Given the description of an element on the screen output the (x, y) to click on. 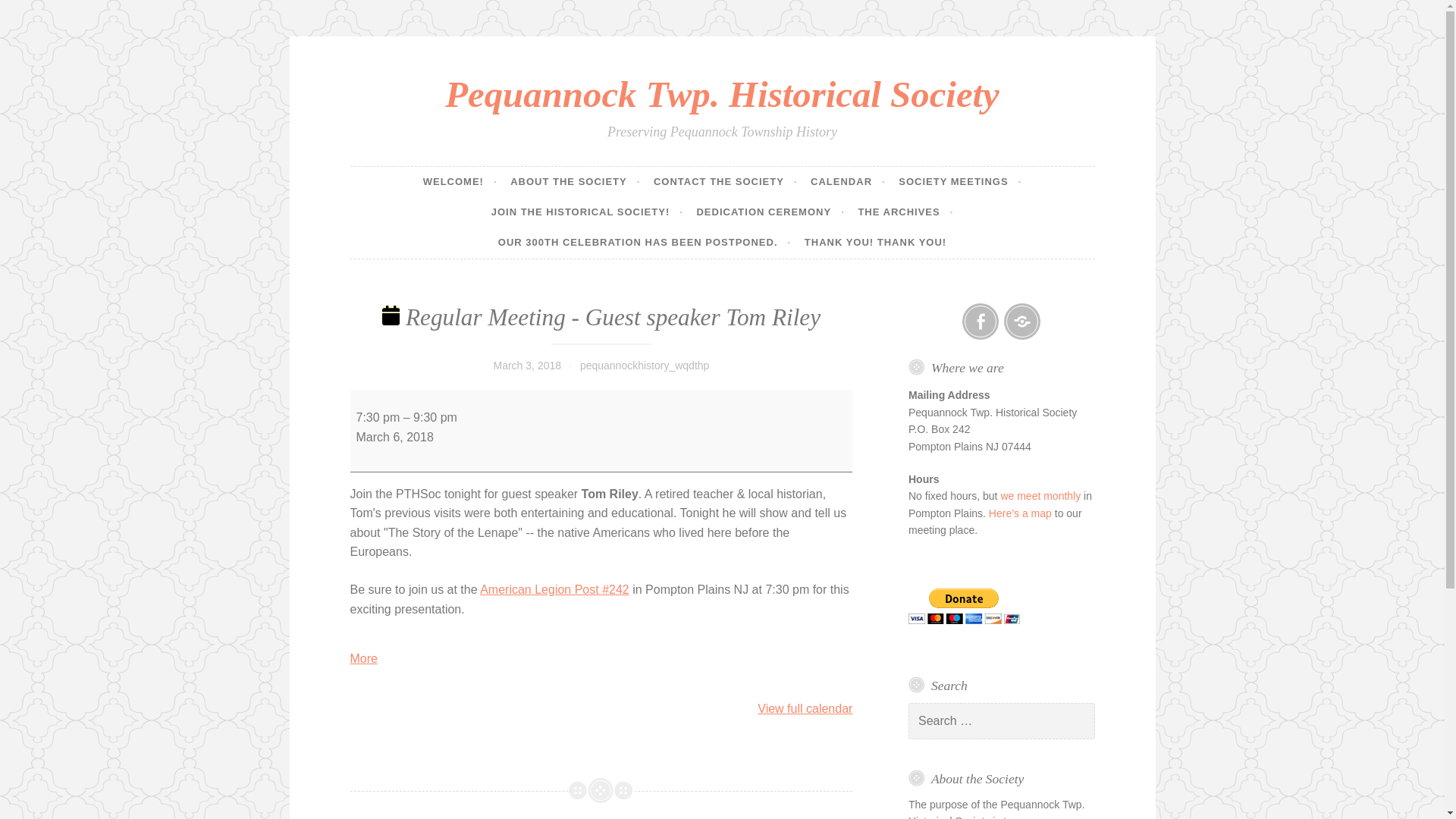
CALENDAR (847, 182)
2018-03-06T21:30:00-04:00 (435, 417)
OUR 300TH CELEBRATION HAS BEEN POSTPONED. (643, 243)
Pequannock Twp. Historical Society (721, 94)
Search (33, 13)
THANK YOU! THANK YOU! (875, 243)
March 3, 2018 (526, 365)
CONTACT THE SOCIETY (725, 182)
Find us on Facebook (980, 321)
SOCIETY MEETINGS (960, 182)
THE ARCHIVES (905, 212)
Pequannock History on Facebook (980, 321)
JOIN THE HISTORICAL SOCIETY! (587, 212)
Contact the Society (1022, 321)
